Given the description of an element on the screen output the (x, y) to click on. 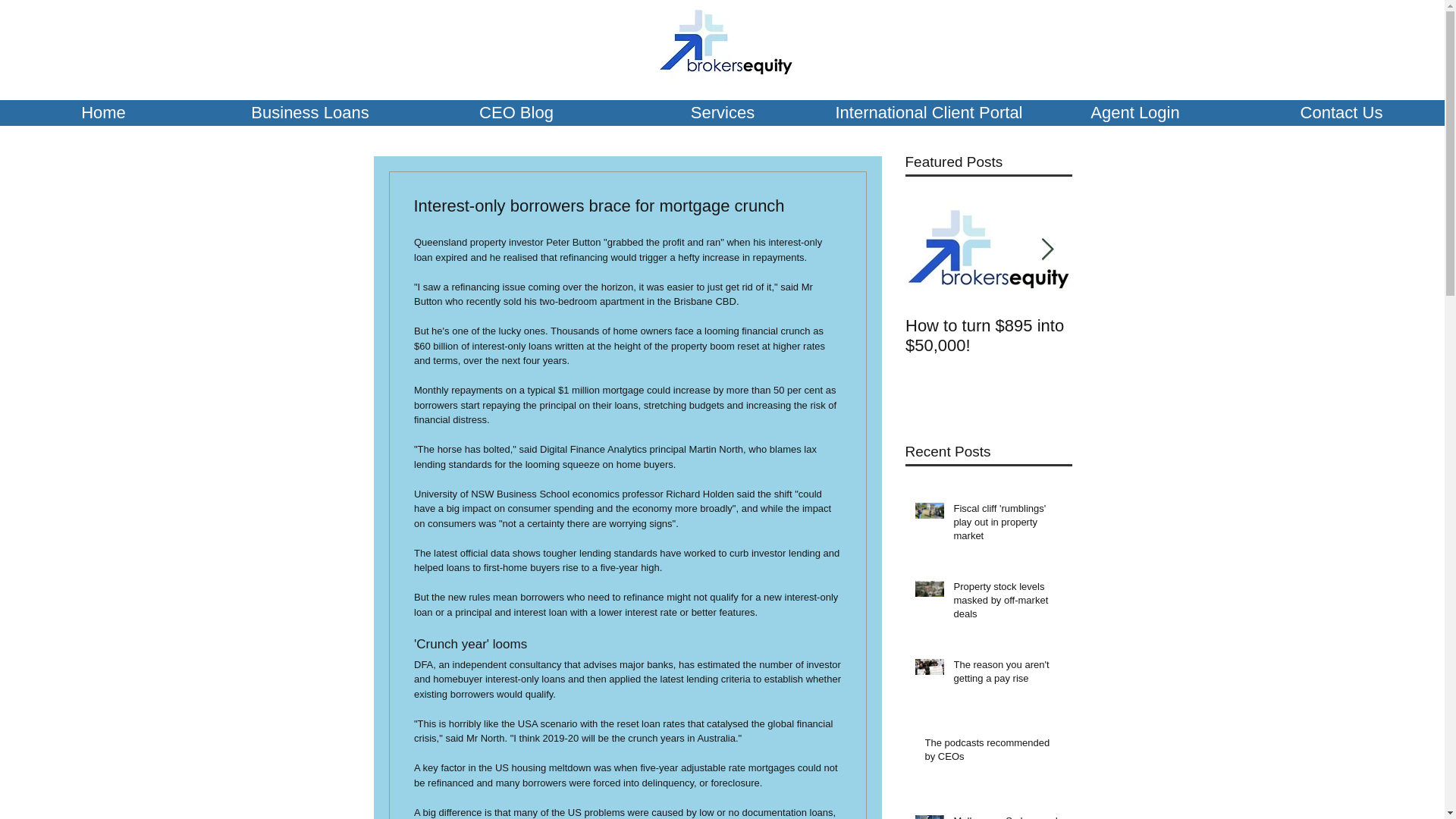
Why Sydney property is cheap compared with Shanghai (1155, 345)
The podcasts recommended by CEOs (993, 752)
Property stock levels masked by off-market deals (1007, 603)
Agent Login (1135, 112)
The reason you aren't getting a pay rise (1007, 674)
International Client Portal (928, 112)
Services (722, 112)
Fiscal cliff 'rumblings' play out in property market (1007, 525)
Home (103, 112)
CEO Blog (516, 112)
Business Loans (309, 112)
ImageProxy.jpeg (725, 41)
